Given the description of an element on the screen output the (x, y) to click on. 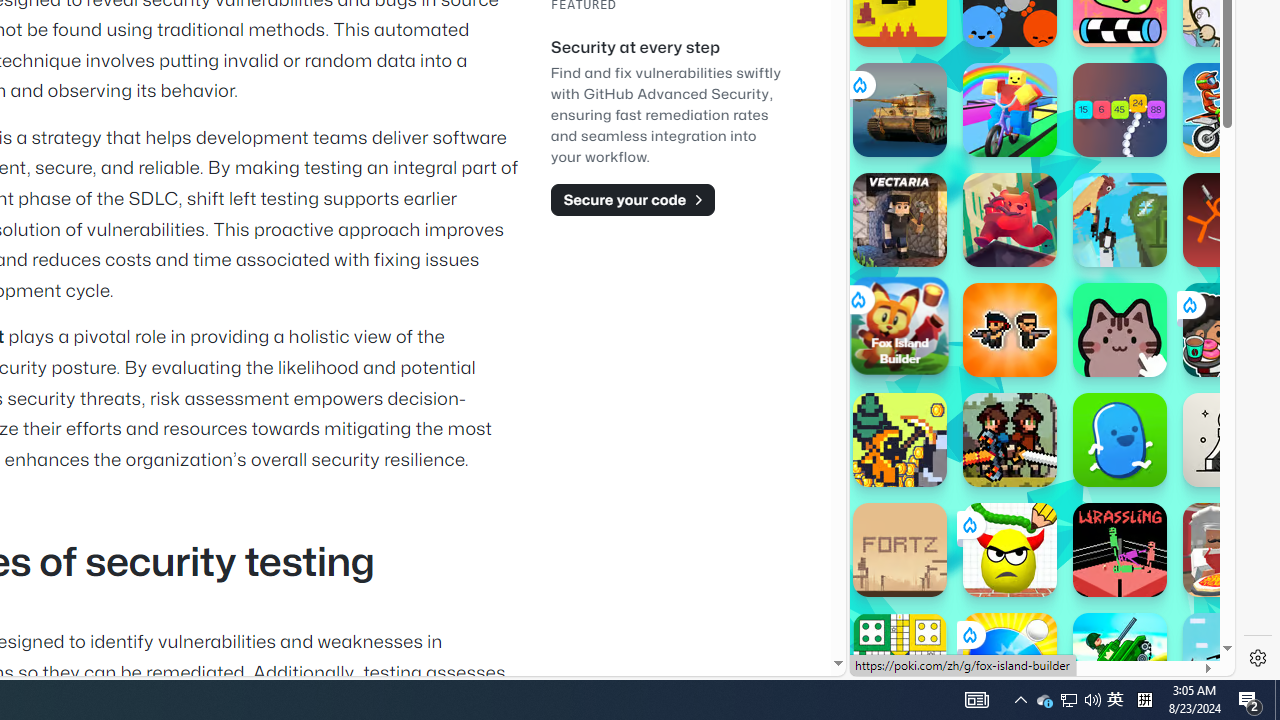
Combat Reloaded (1090, 290)
Draw To Smash: Logic Puzzle (1009, 549)
Ludo Multiplayer Ludo Multiplayer (899, 659)
Catpad Catpad (1119, 329)
Crazy Cars (1217, 290)
Hypersnake Hypersnake (1119, 109)
Getaway Shootout Getaway Shootout (1119, 219)
